Given the description of an element on the screen output the (x, y) to click on. 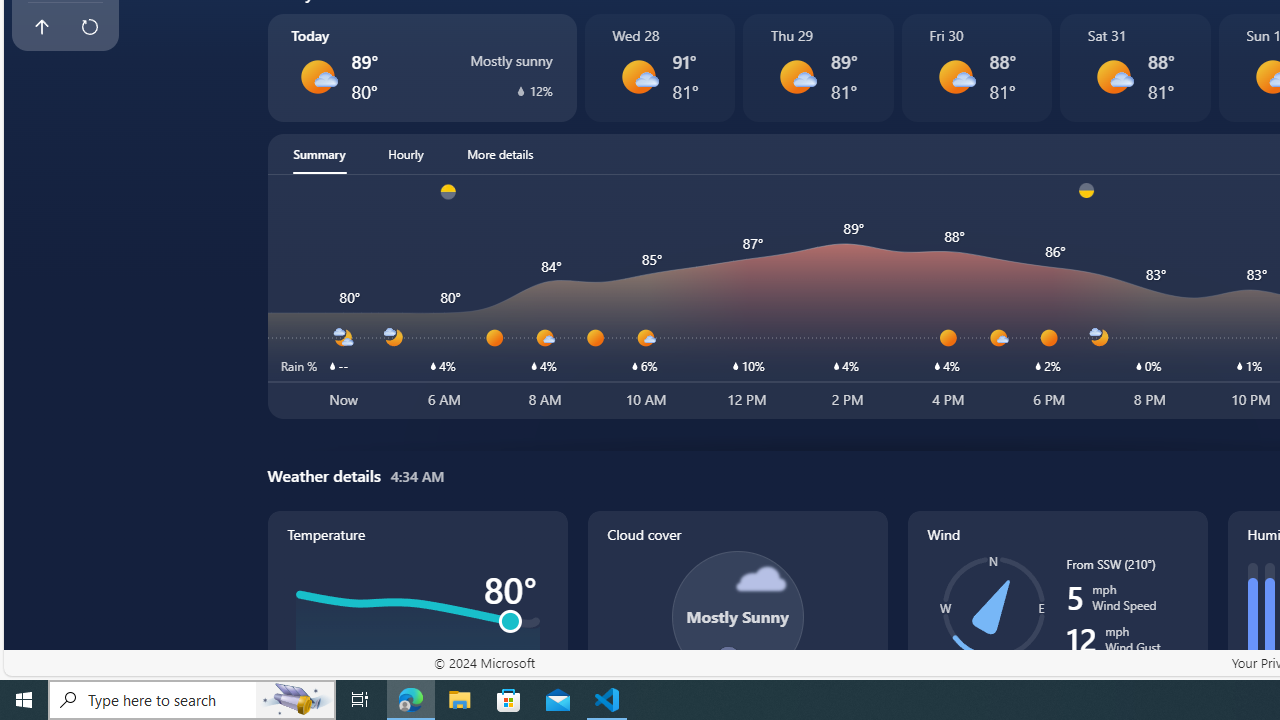
Class: cloudCoverSvg-DS-ps0R9q (736, 616)
Refresh this page (89, 26)
